Given the description of an element on the screen output the (x, y) to click on. 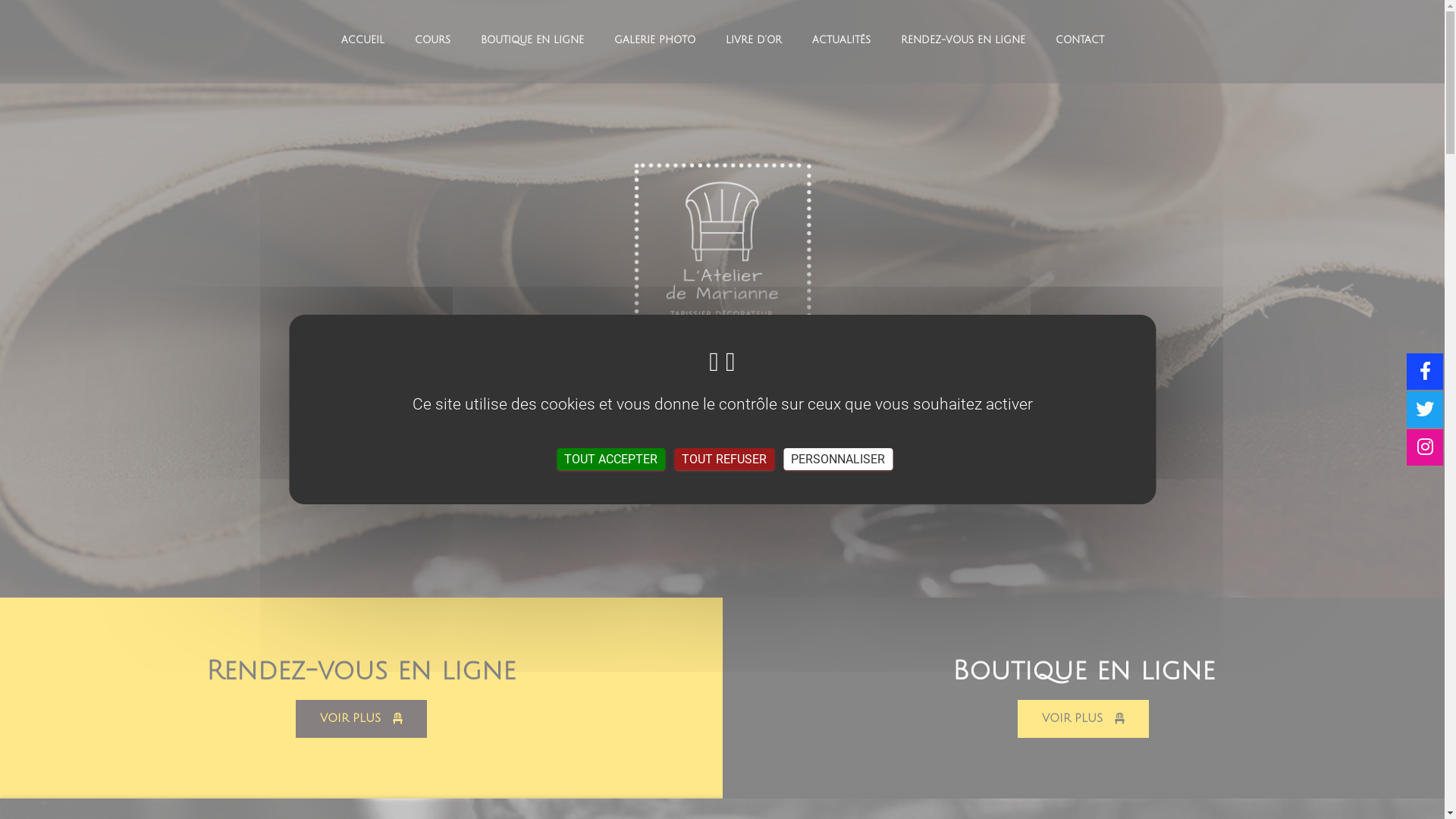
CONTACT Element type: text (1079, 41)
Rendez-vous en ligne Element type: text (360, 670)
GALERIE PHOTO Element type: text (654, 41)
BOUTIQUE EN LIGNE Element type: text (532, 41)
RENDEZ-VOUS EN LIGNE Element type: text (962, 41)
TOUT ACCEPTER Element type: text (610, 459)
TOUT REFUSER Element type: text (724, 459)
VOIR PLUS Element type: text (1082, 718)
ACCUEIL Element type: text (362, 41)
PERSONNALISER Element type: text (837, 459)
Boutique en ligne Element type: text (1083, 670)
VOIR PLUS Element type: text (360, 718)
COURS Element type: text (431, 41)
